Given the description of an element on the screen output the (x, y) to click on. 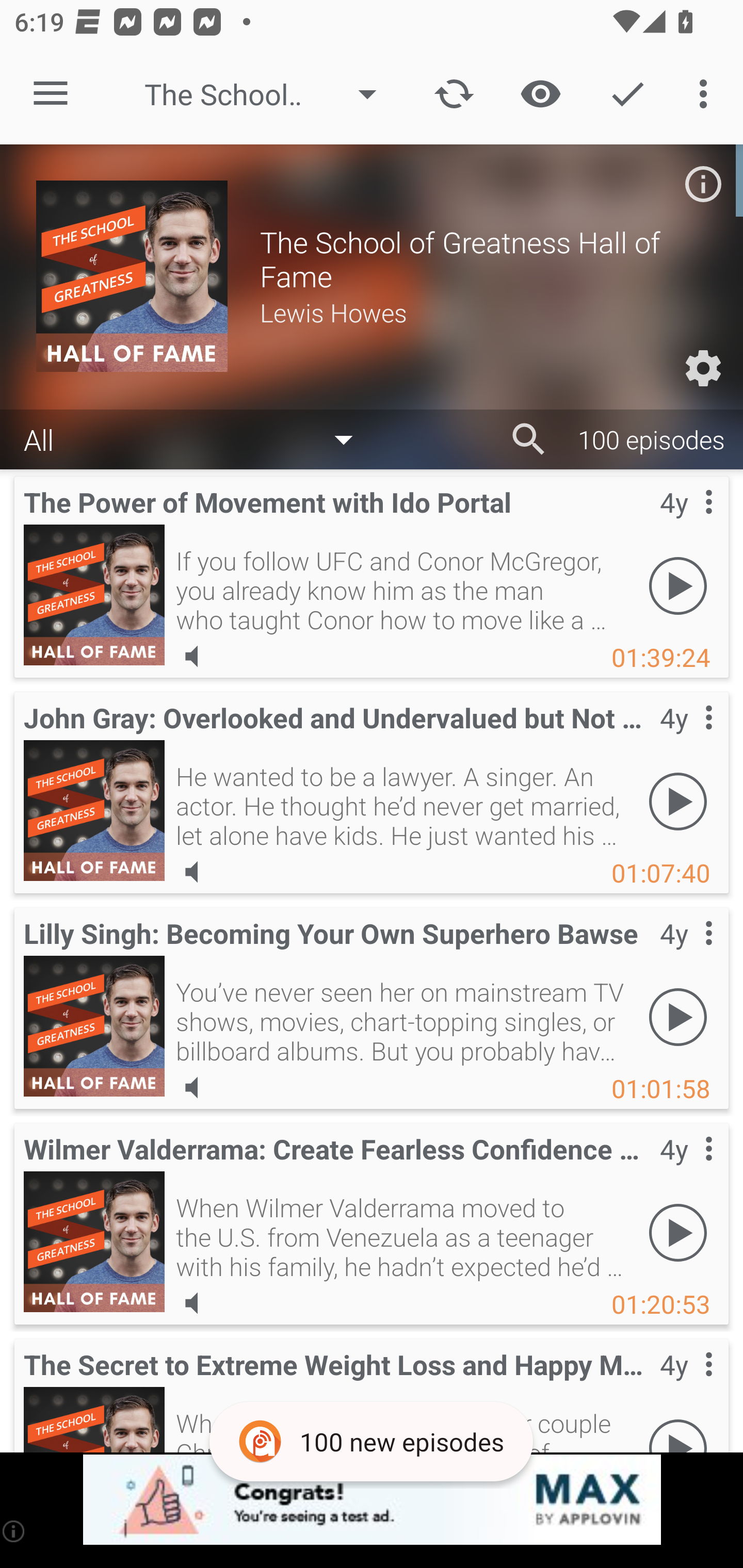
Open navigation sidebar (50, 93)
Update (453, 93)
Show / Hide played content (540, 93)
Action Mode (626, 93)
More options (706, 93)
The School of Greatness Hall of Fame (270, 94)
Podcast description (703, 184)
Lewis Howes (483, 311)
Custom Settings (703, 368)
Search (528, 439)
All (197, 438)
Contextual menu (685, 522)
The Power of Movement with Ido Portal (93, 594)
Play (677, 585)
Contextual menu (685, 738)
Play (677, 801)
Contextual menu (685, 954)
Lilly Singh: Becoming Your Own Superhero Bawse (93, 1026)
Play (677, 1016)
Contextual menu (685, 1169)
Play (677, 1232)
Contextual menu (685, 1385)
app-monetization (371, 1500)
(i) (14, 1531)
